Given the description of an element on the screen output the (x, y) to click on. 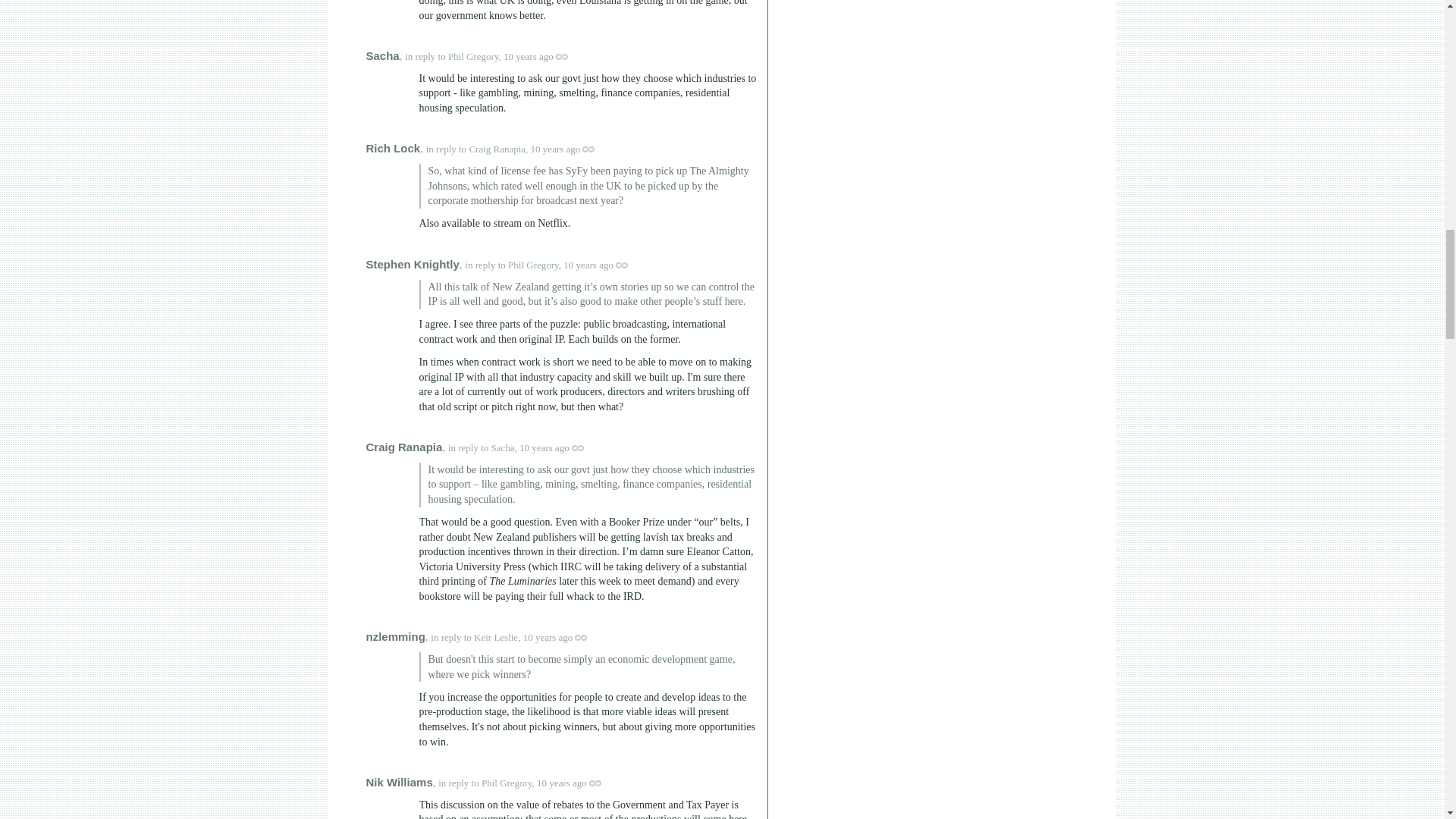
10 years ago (543, 56)
Phil Gregory, (474, 56)
12:48 Oct 28, 2013 (544, 447)
11:29 Oct 28, 2013 (555, 148)
13:15 Oct 28, 2013 (547, 636)
10:26 Oct 28, 2013 (528, 56)
12:23 Oct 28, 2013 (587, 265)
13:18 Oct 28, 2013 (561, 782)
Sacha (381, 55)
